Given the description of an element on the screen output the (x, y) to click on. 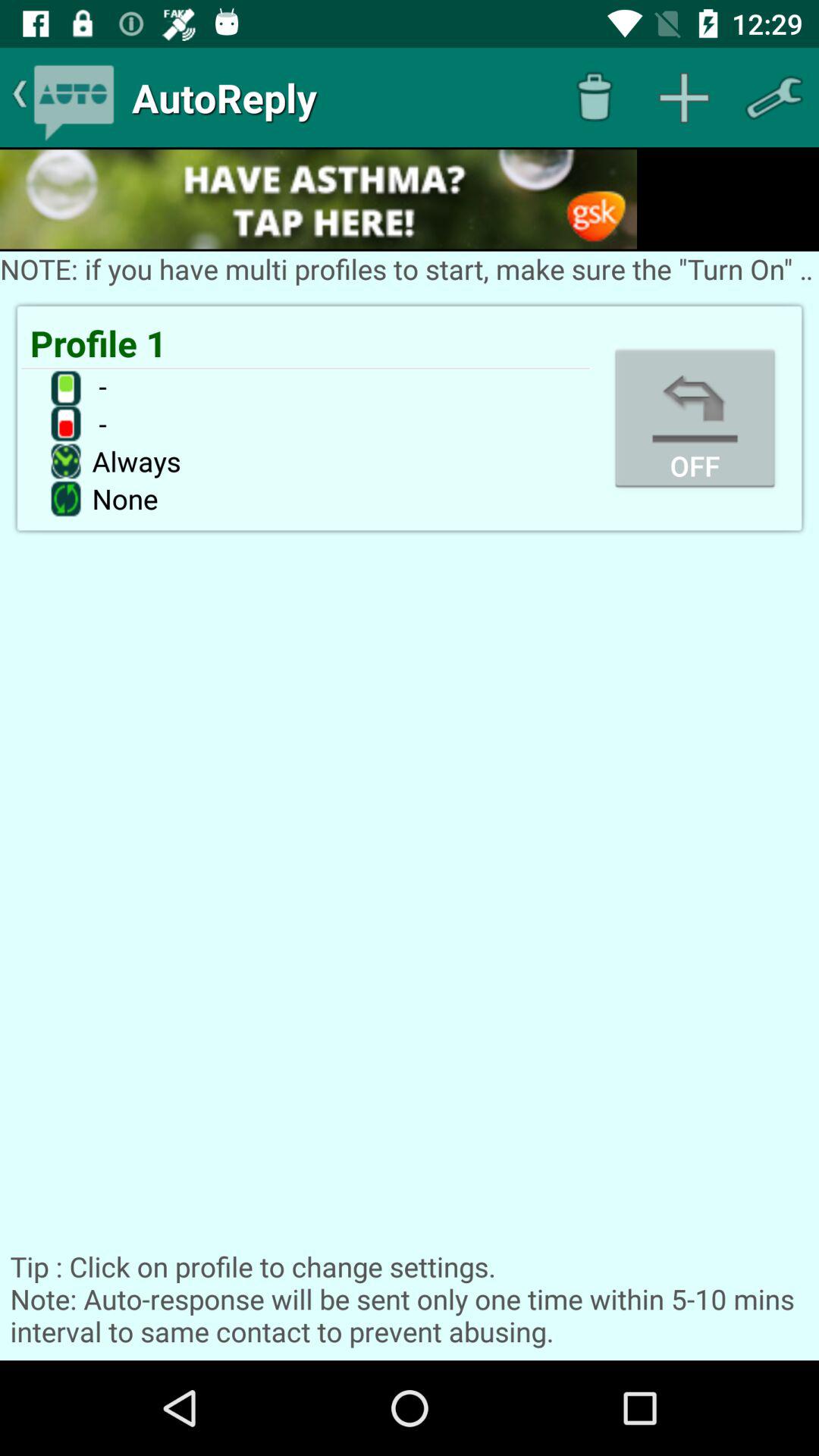
click to the setting (774, 97)
